Given the description of an element on the screen output the (x, y) to click on. 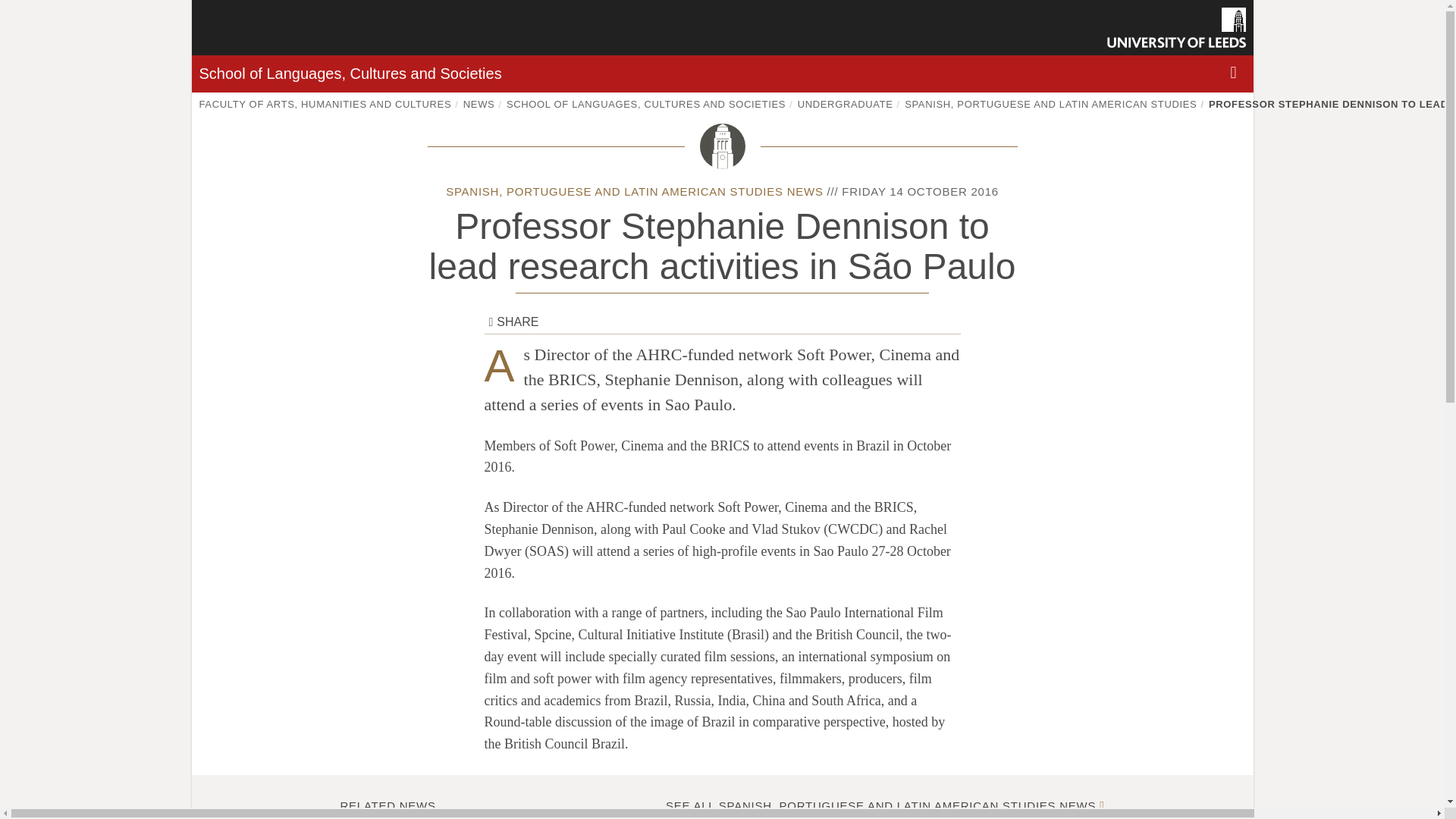
University of Leeds homepage (1176, 27)
School of Languages, Cultures and Societies (349, 73)
